Given the description of an element on the screen output the (x, y) to click on. 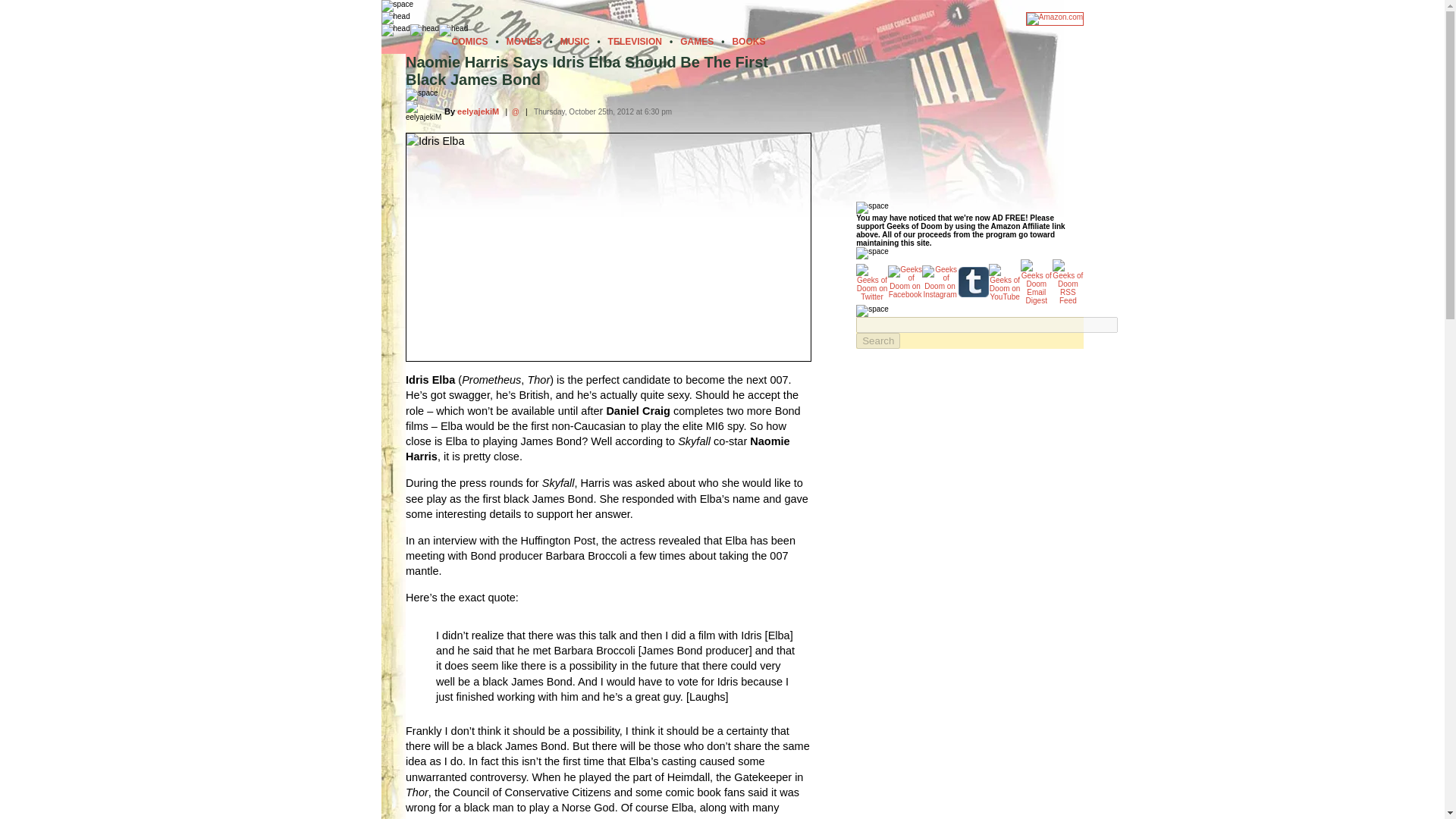
Follow Geeks of Doom on Tumblr (973, 281)
Follow Geeks of Doom on Facebook (905, 281)
COMICS (469, 41)
Follow Geeks of Doom on Instagram (938, 281)
eelyajekiM (478, 110)
MOVIES (523, 41)
TELEVISION (635, 41)
MUSIC (574, 41)
Idris Elba (608, 246)
Search (877, 340)
